Given the description of an element on the screen output the (x, y) to click on. 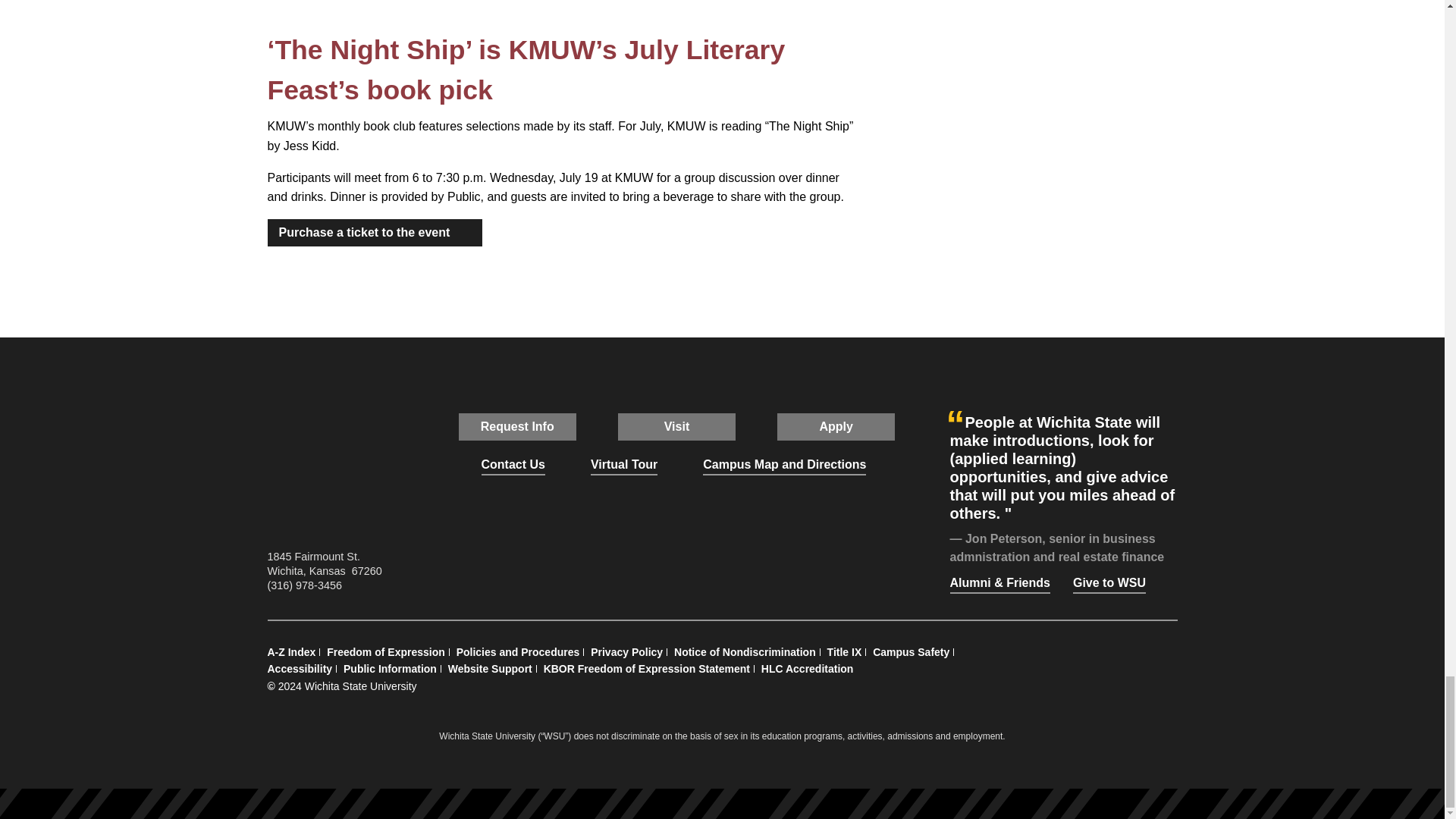
Instagram (675, 563)
Facebook (605, 563)
YouTube (710, 563)
Linkedin (745, 563)
